Given the description of an element on the screen output the (x, y) to click on. 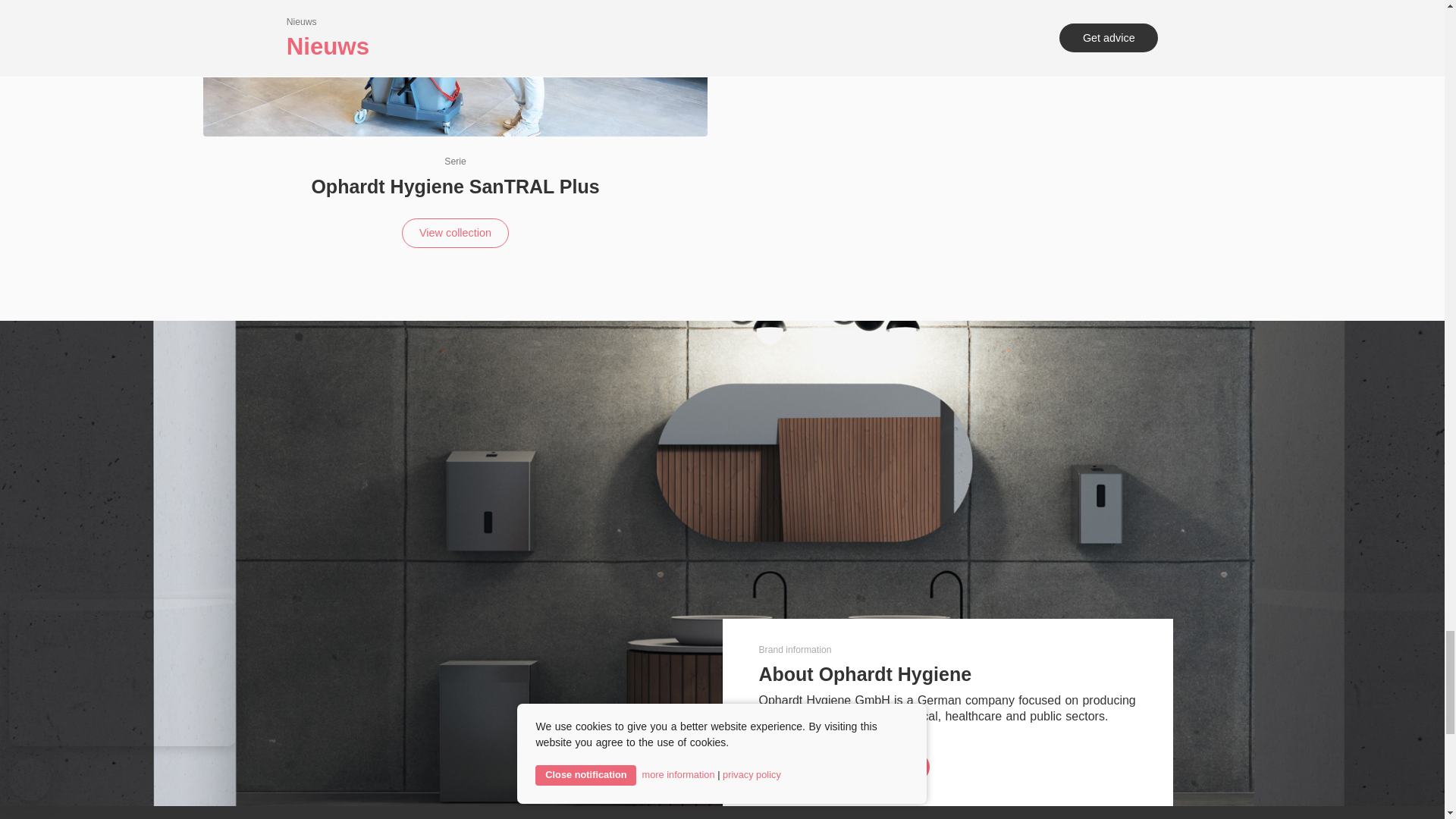
View collection (454, 233)
View more Ophardt Hygiene (844, 767)
